Given the description of an element on the screen output the (x, y) to click on. 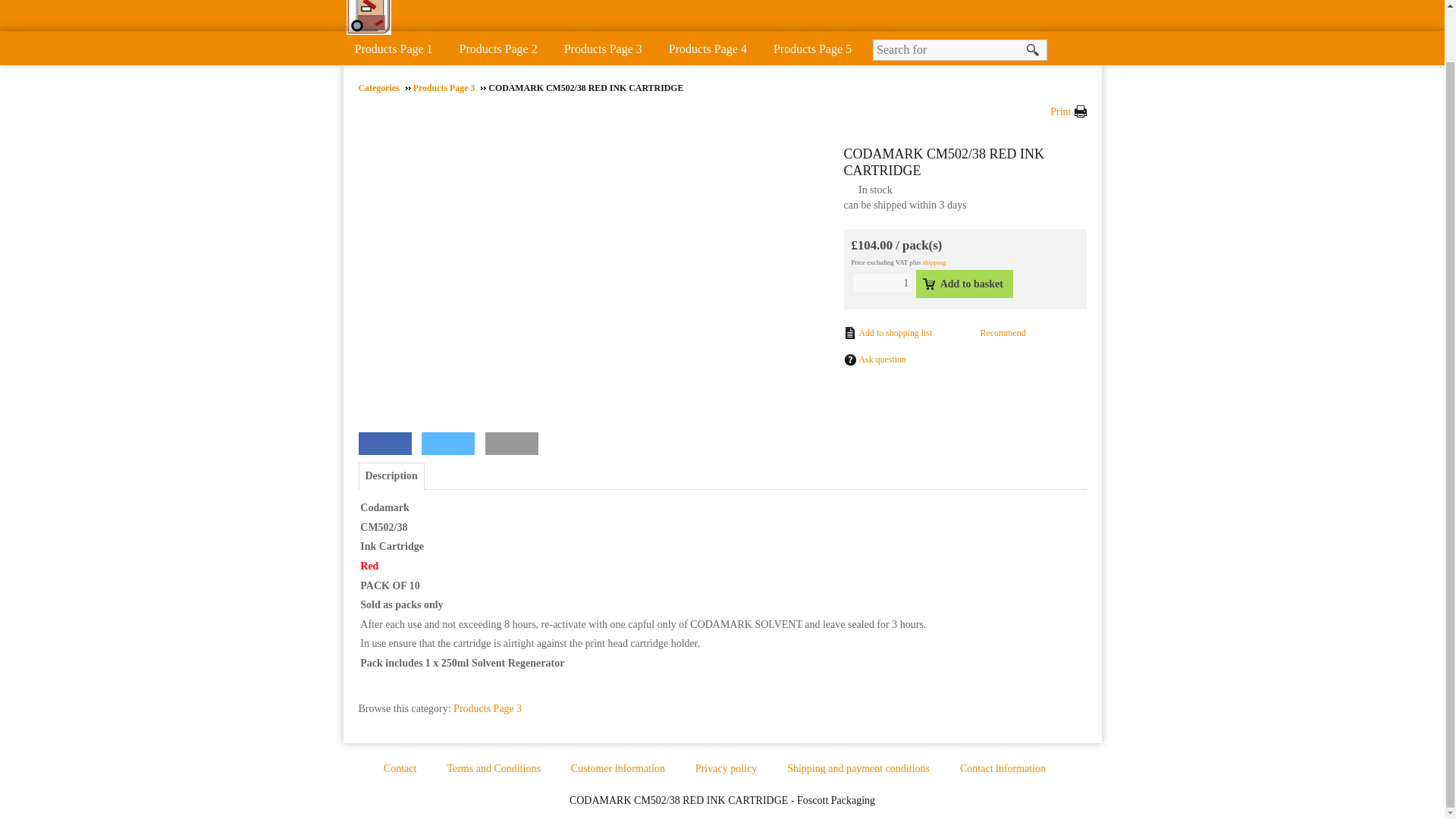
Add to shopping list (887, 332)
Recommend (994, 333)
Terms and Conditions (504, 768)
Products Page 5 (816, 46)
Products Page 3 (449, 87)
Print (1067, 112)
Ask question (874, 359)
Description (391, 475)
Privacy policy (736, 768)
